Given the description of an element on the screen output the (x, y) to click on. 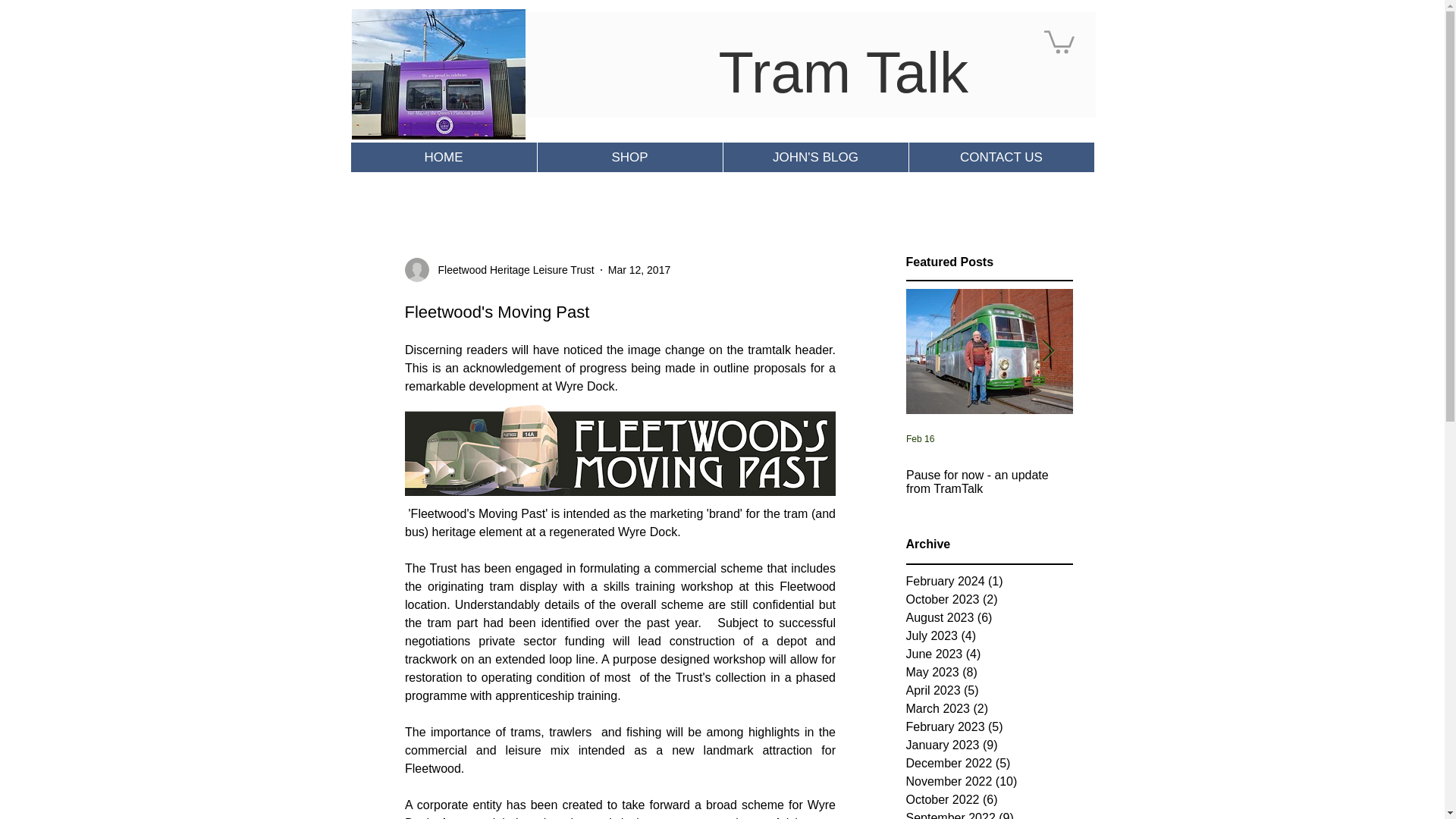
Pause for now - an update from TramTalk (988, 482)
CONTACT US (1001, 156)
New Year ... New Directions! (1155, 475)
SHOP (629, 156)
Feb 16 (919, 439)
Mar 12, 2017 (639, 269)
Fleetwood Heritage Leisure Trust (511, 270)
JOHN'S BLOG (814, 156)
Jan 2, 2021 (1095, 439)
HOME (442, 156)
